Given the description of an element on the screen output the (x, y) to click on. 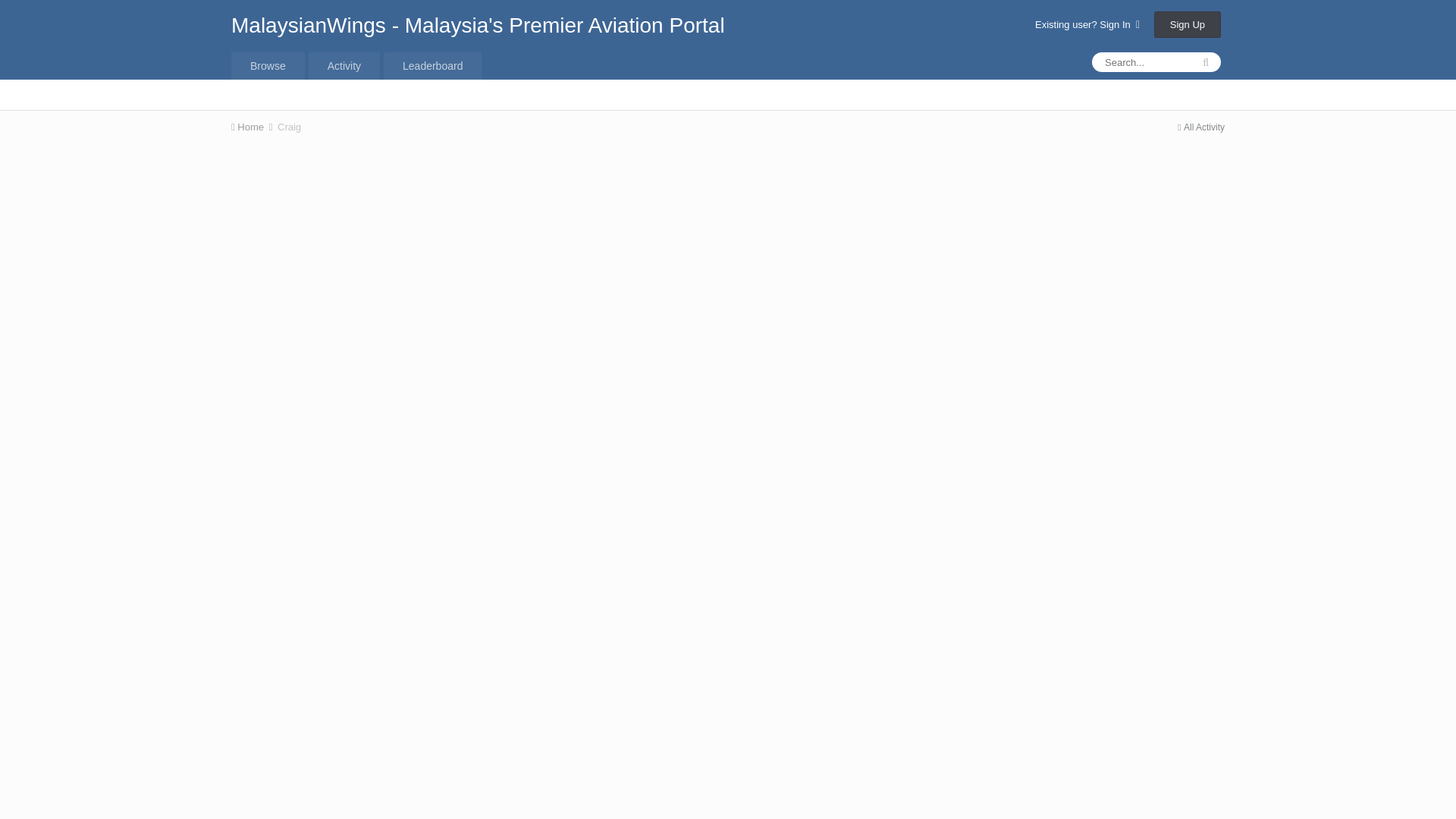
Home (253, 126)
Leaderboard (432, 65)
Craig (289, 126)
Home (253, 126)
Activity (344, 65)
Browse (267, 65)
Existing user? Sign In   (1087, 24)
All Activity (1200, 127)
Sign Up (1187, 24)
MalaysianWings - Malaysia's Premier Aviation Portal (478, 24)
